Given the description of an element on the screen output the (x, y) to click on. 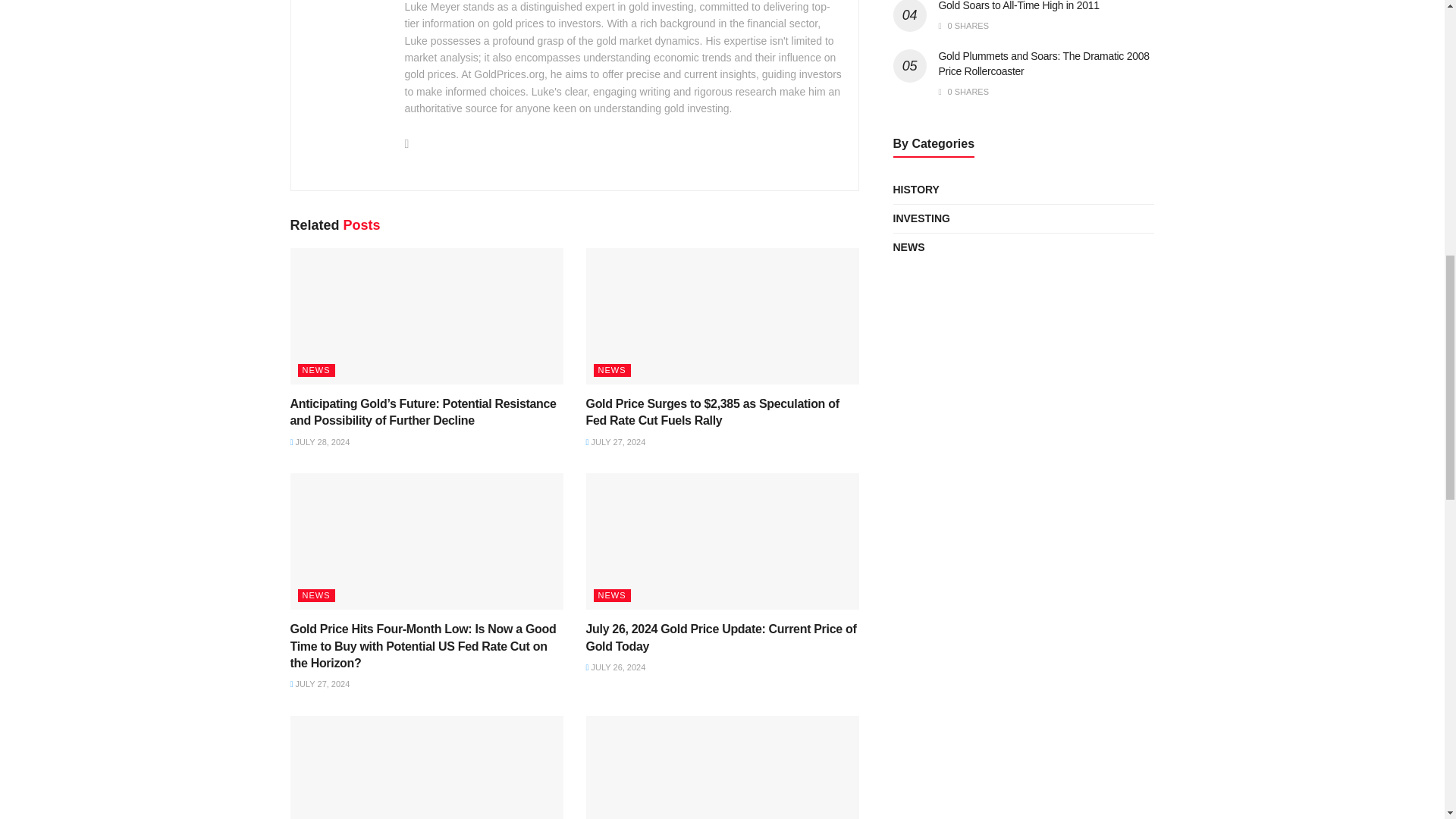
NEWS (611, 369)
JULY 28, 2024 (319, 441)
NEWS (315, 369)
